Given the description of an element on the screen output the (x, y) to click on. 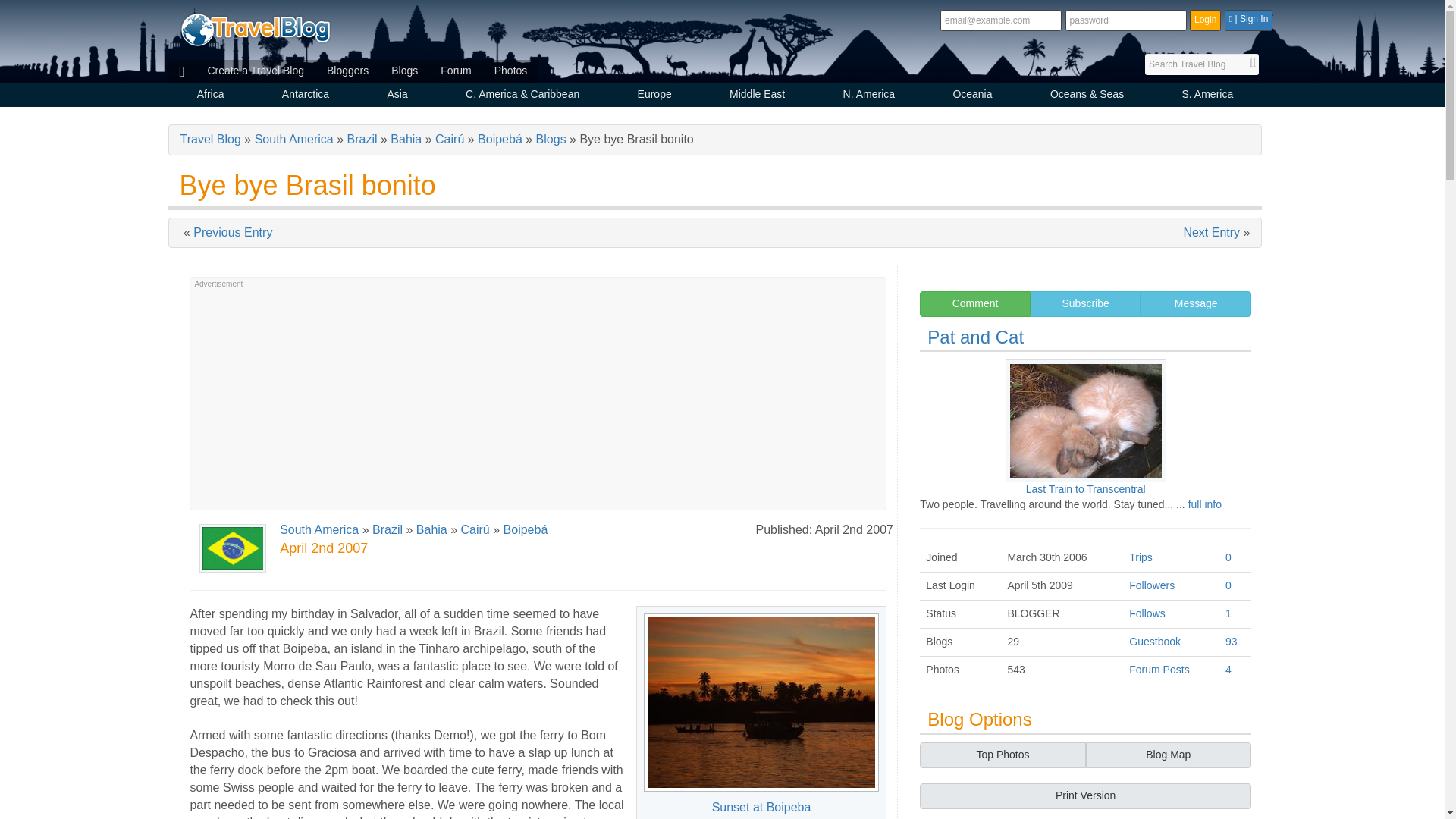
Oceania (972, 95)
Sign in with Facebook (1248, 20)
Sunset at Boipeba (761, 702)
Antarctica (305, 95)
Africa (210, 95)
Asia (397, 95)
Login (1205, 20)
S. America (1207, 95)
N. America (868, 95)
Forum (455, 71)
